Given the description of an element on the screen output the (x, y) to click on. 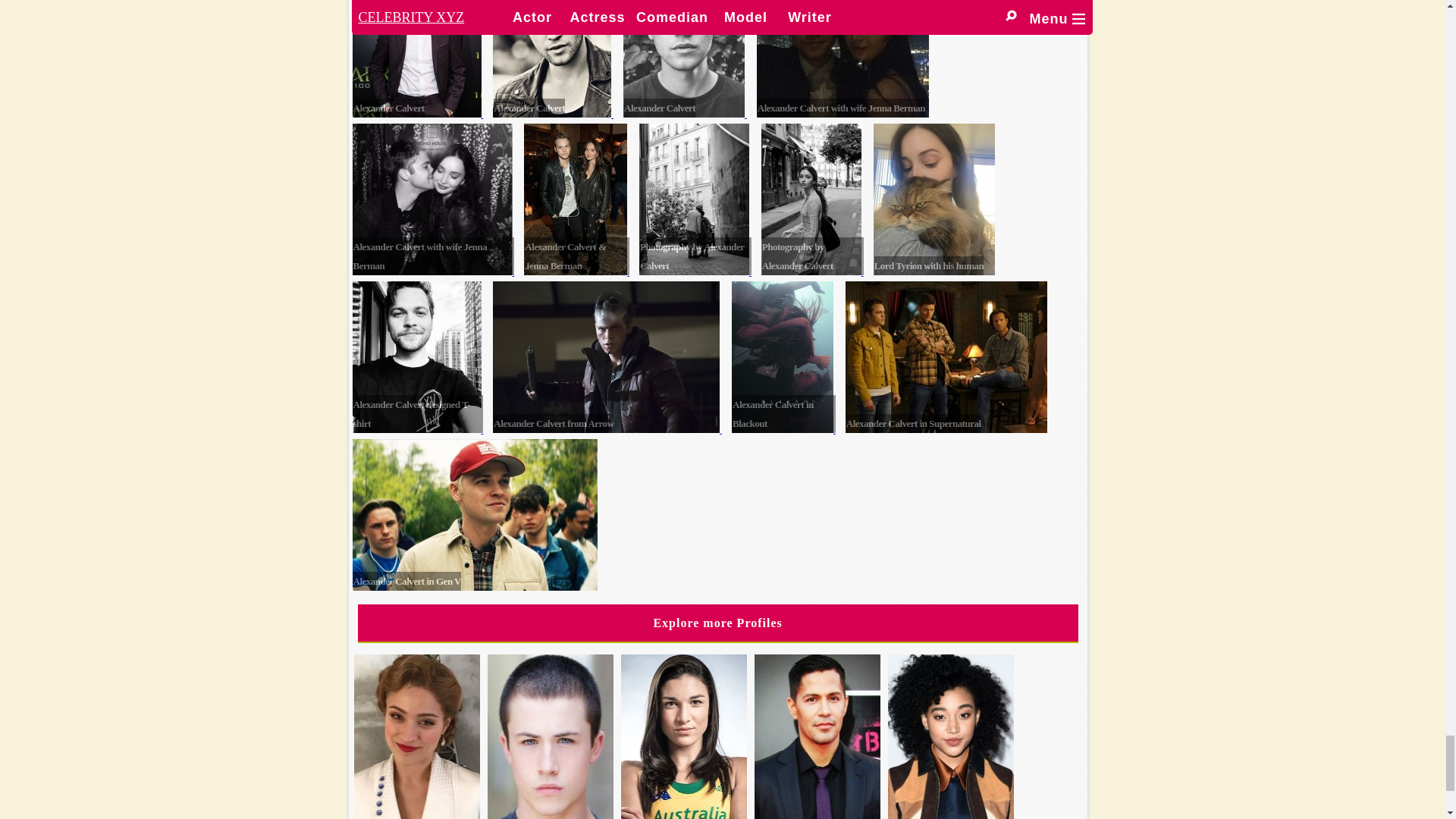
Alexander Calvert designed T-shirt (416, 357)
Alexander Calvert (683, 58)
Alexander Calvert (416, 58)
Alexander Calvert with wife Jenna Berman (432, 199)
Alexander Calvert (552, 58)
Photography by Alexander Calvert (694, 199)
